Given the description of an element on the screen output the (x, y) to click on. 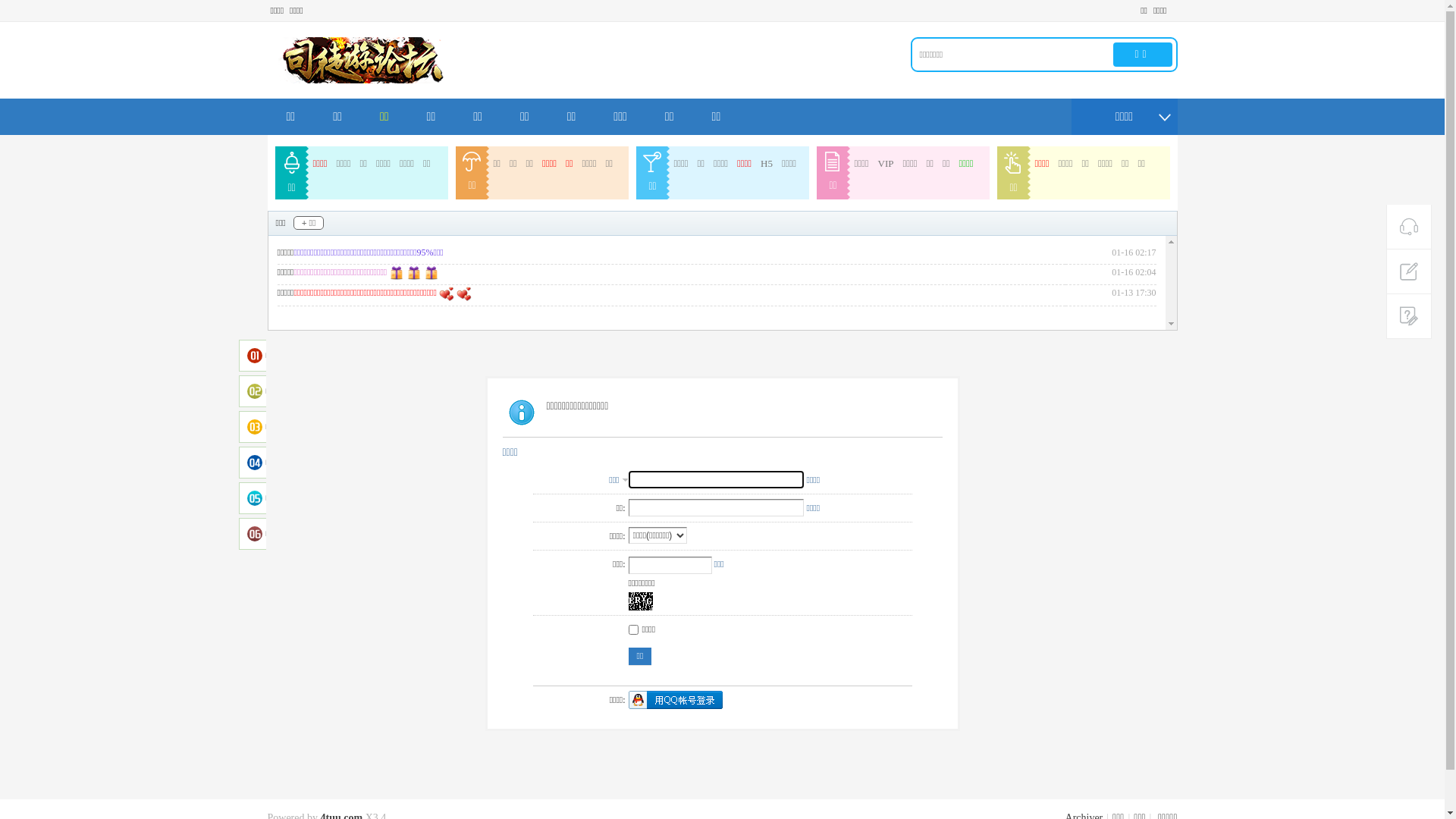
H5 Element type: text (766, 162)
VIP Element type: text (886, 162)
